Given the description of an element on the screen output the (x, y) to click on. 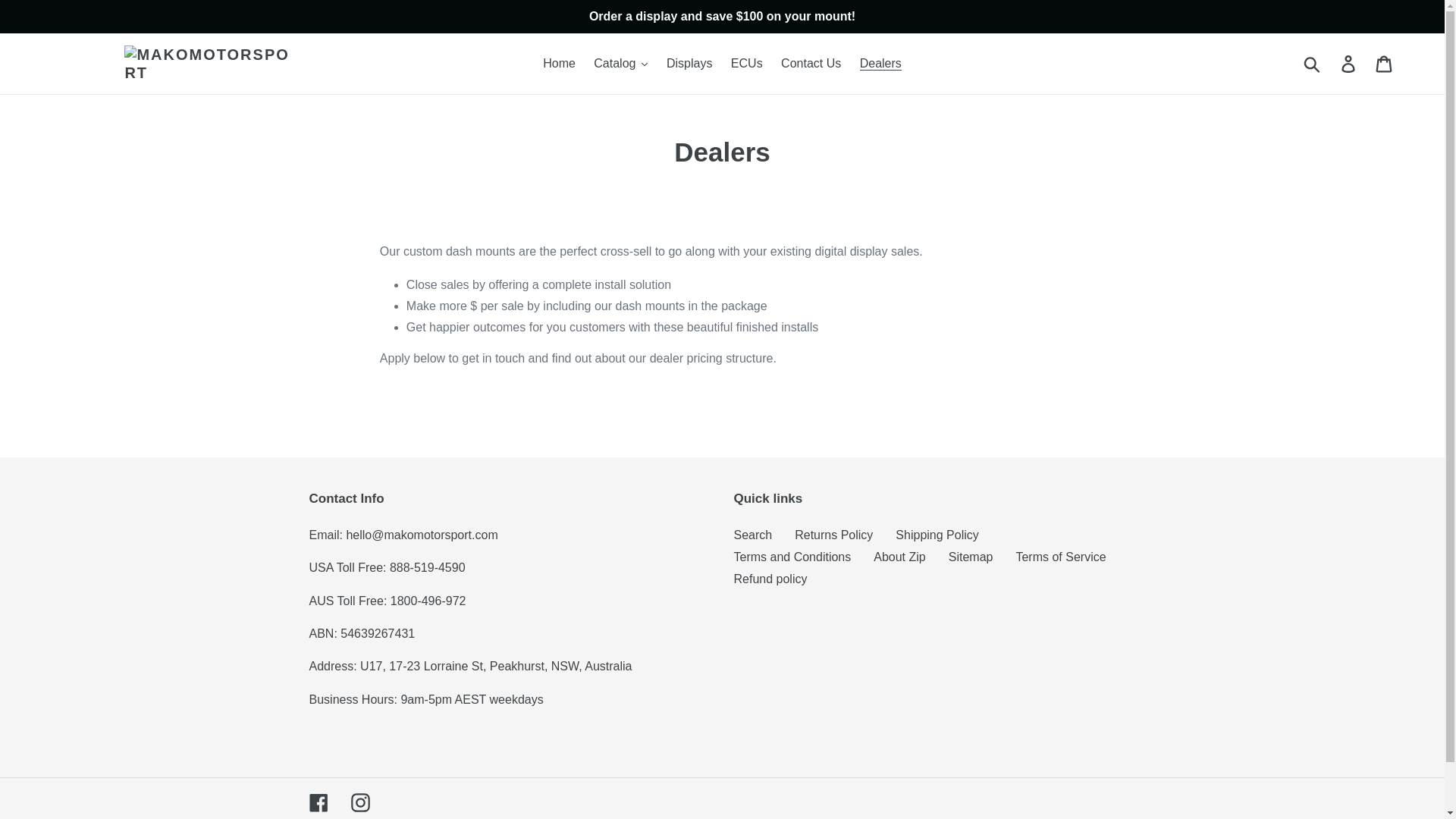
Displays (689, 63)
Submit (1313, 63)
Contact Us (810, 63)
Home (559, 63)
ECUs (746, 63)
Log in (1349, 63)
Cart (1385, 63)
Dealers (879, 63)
